Given the description of an element on the screen output the (x, y) to click on. 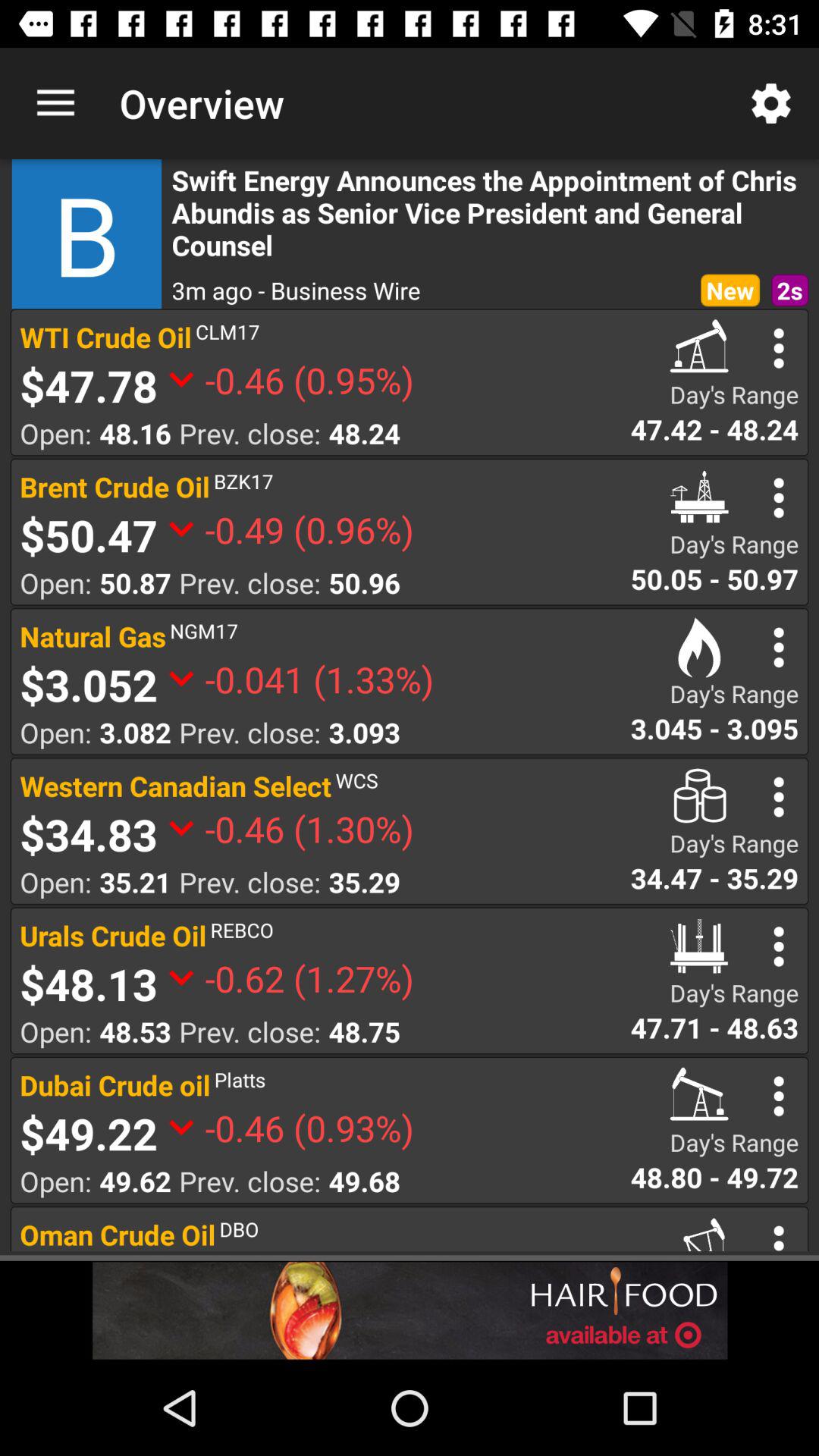
more information (778, 348)
